Given the description of an element on the screen output the (x, y) to click on. 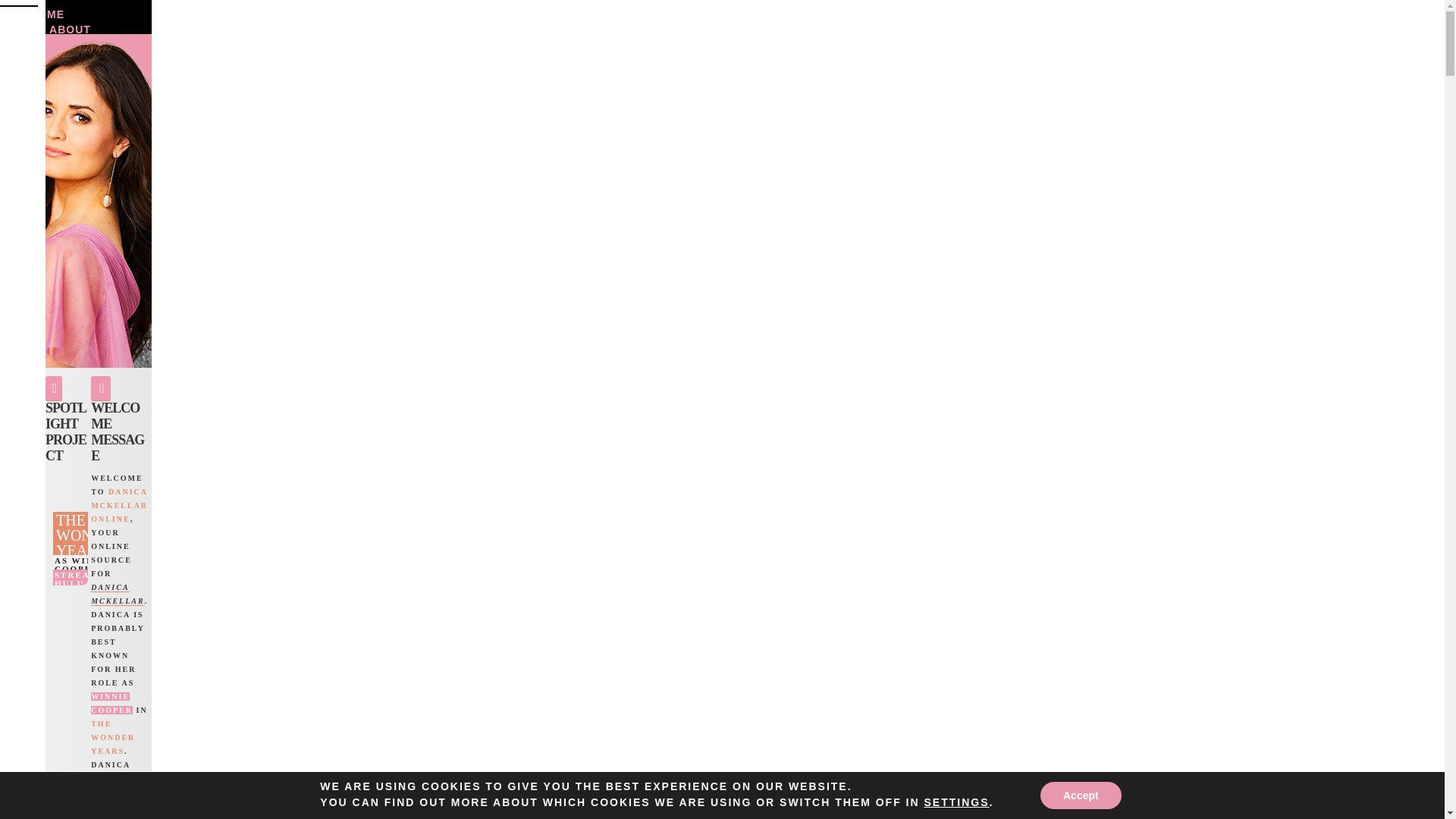
HOME (46, 14)
ABOUT DANICA (69, 35)
